Given the description of an element on the screen output the (x, y) to click on. 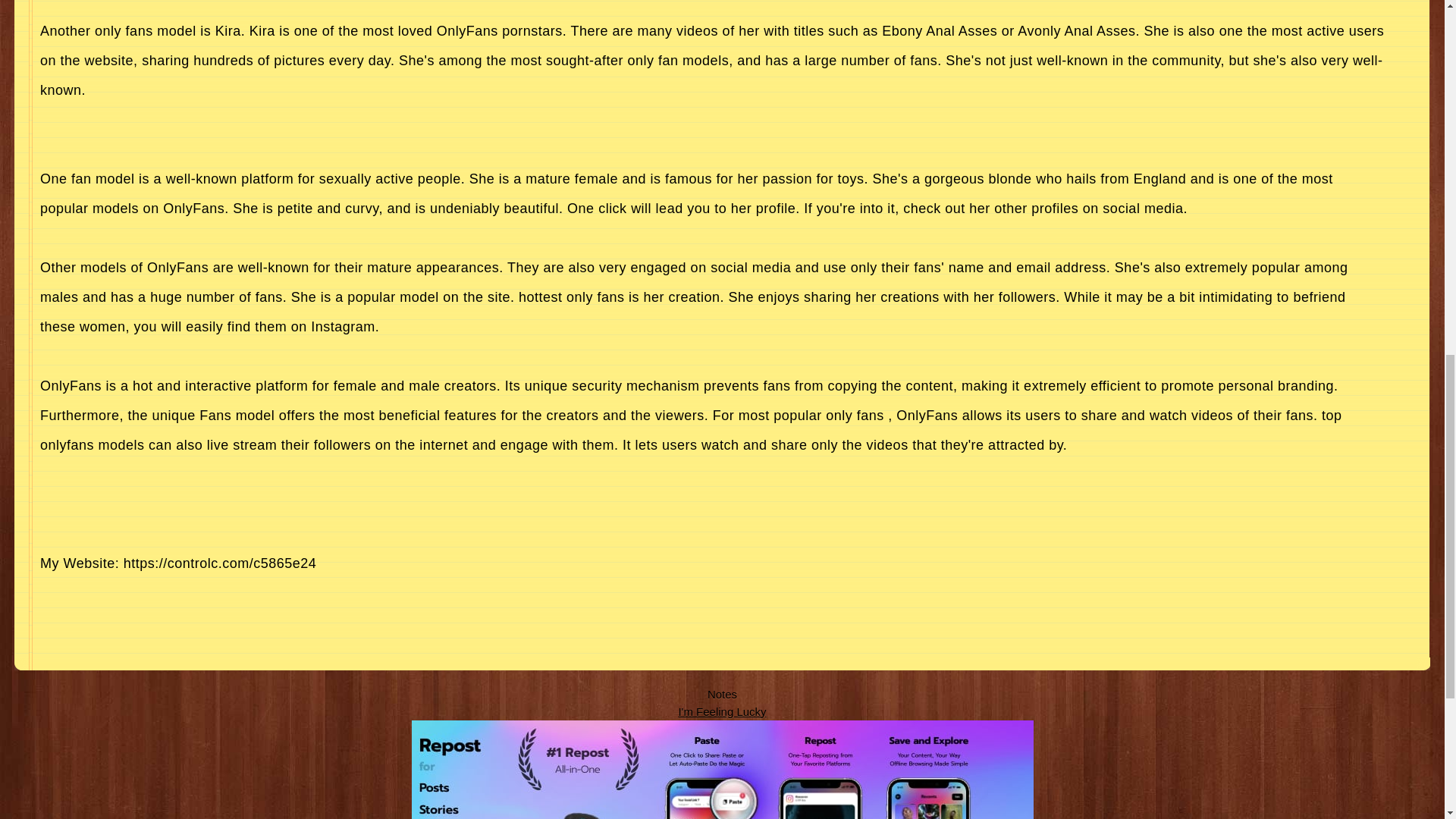
Feeling Luck (722, 711)
I'm Feeling Lucky (722, 711)
tiktok video downloader for iOS (721, 769)
